Given the description of an element on the screen output the (x, y) to click on. 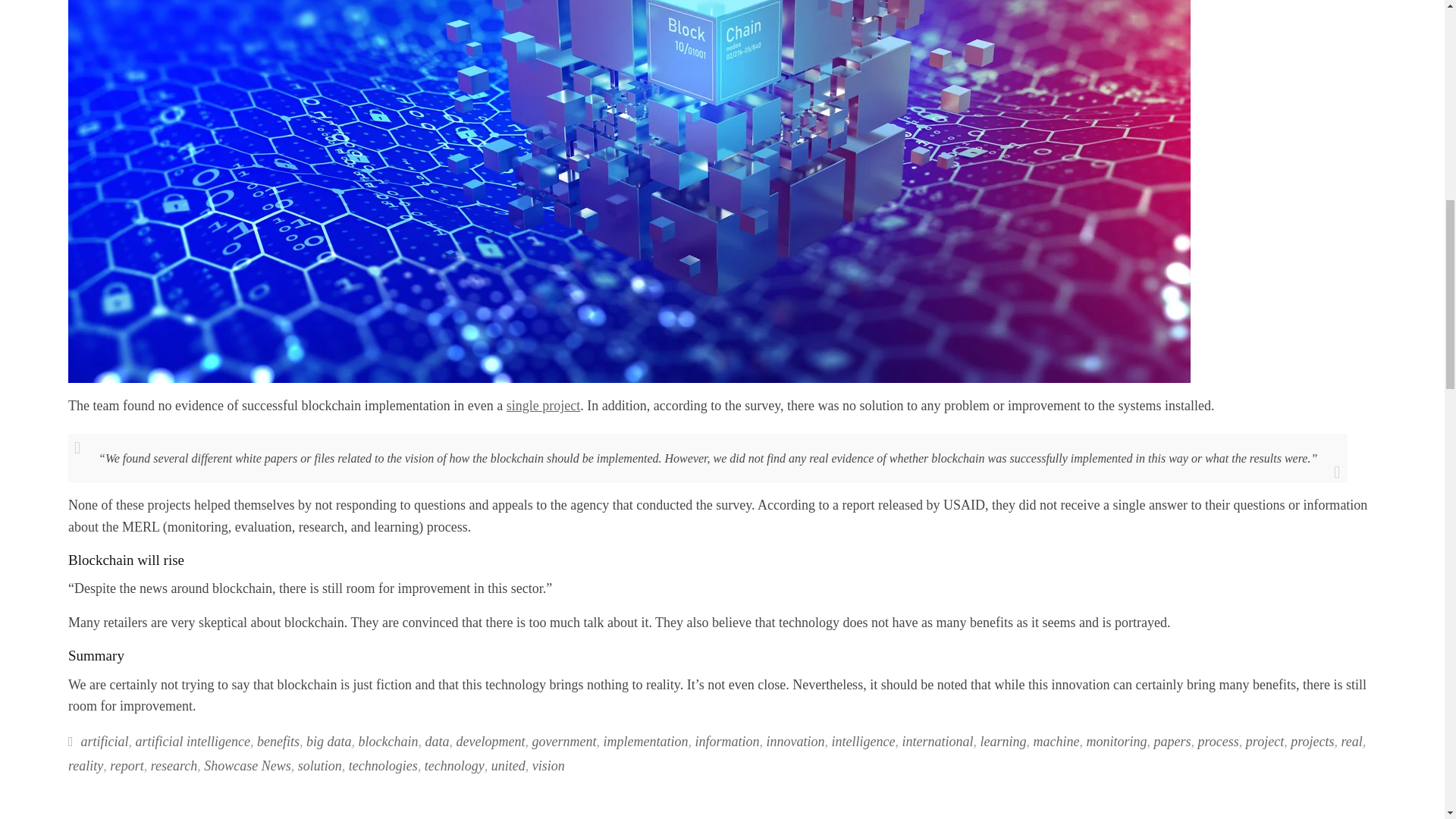
development (491, 741)
monitoring (1116, 741)
information (726, 741)
technology (454, 765)
reality (85, 765)
single project (542, 405)
technologies (383, 765)
implementation (646, 741)
international (936, 741)
machine (1055, 741)
